Given the description of an element on the screen output the (x, y) to click on. 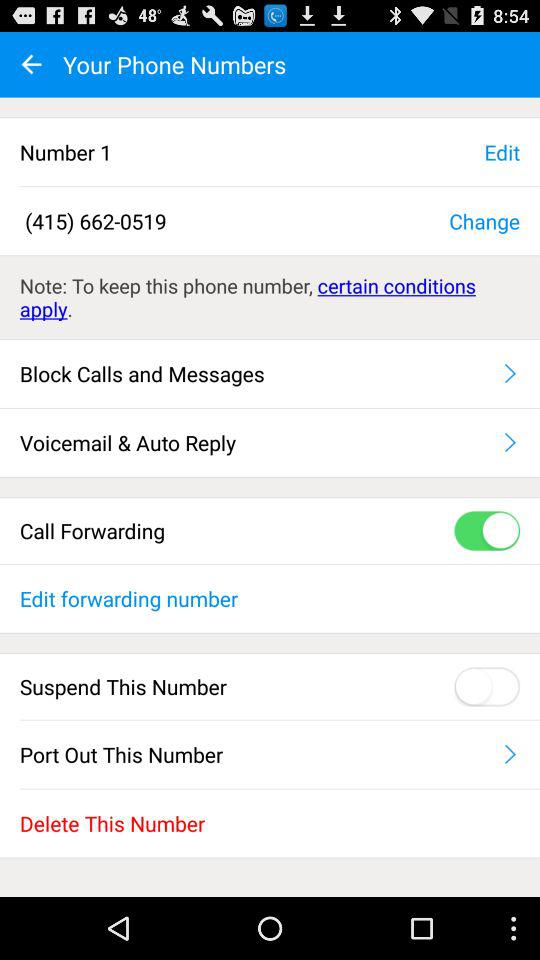
jump until the note to keep (269, 297)
